Given the description of an element on the screen output the (x, y) to click on. 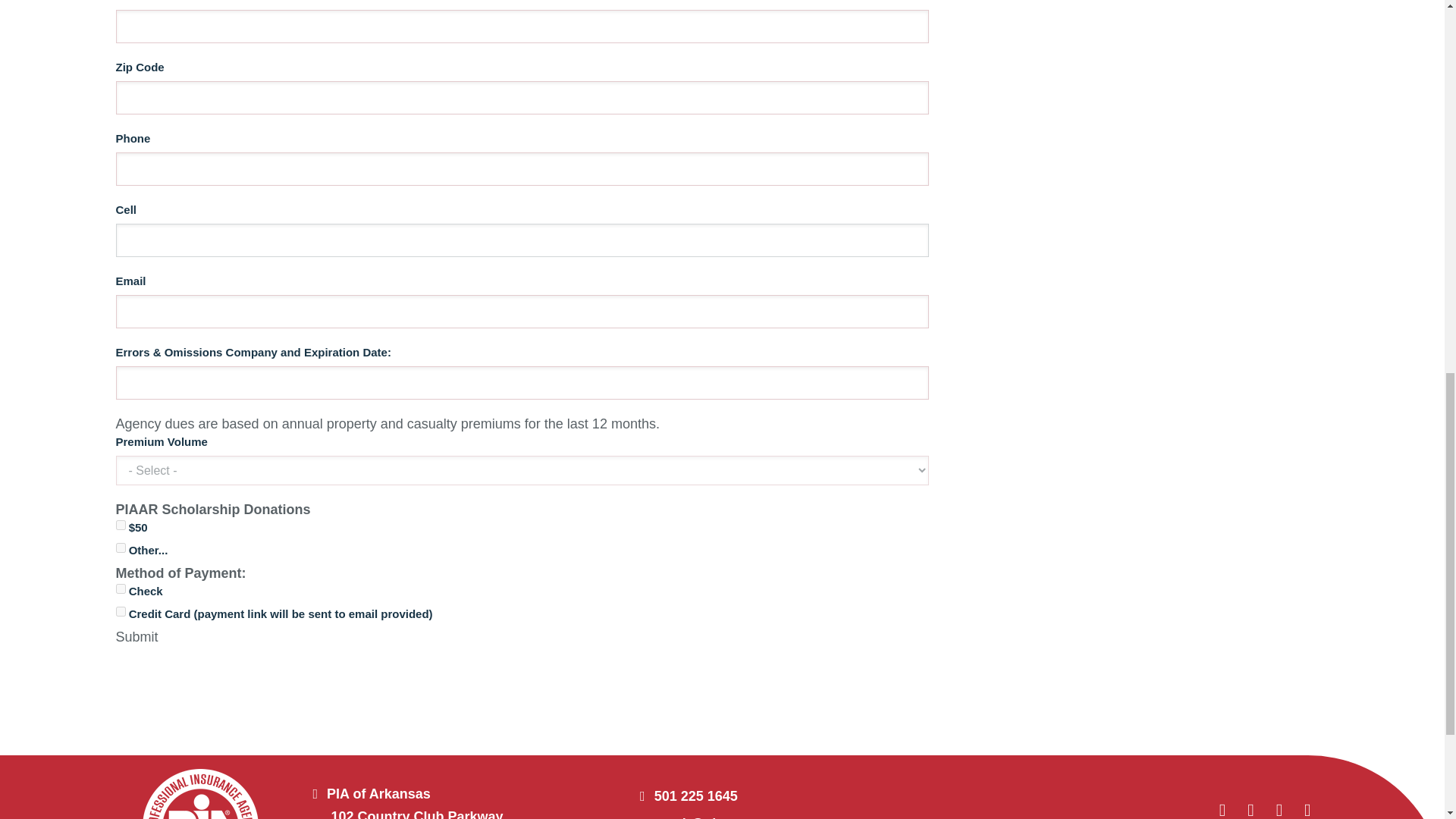
on (120, 547)
Check (120, 588)
14772 naPIA Logo v1 Arkansas PIA KO (200, 794)
